Given the description of an element on the screen output the (x, y) to click on. 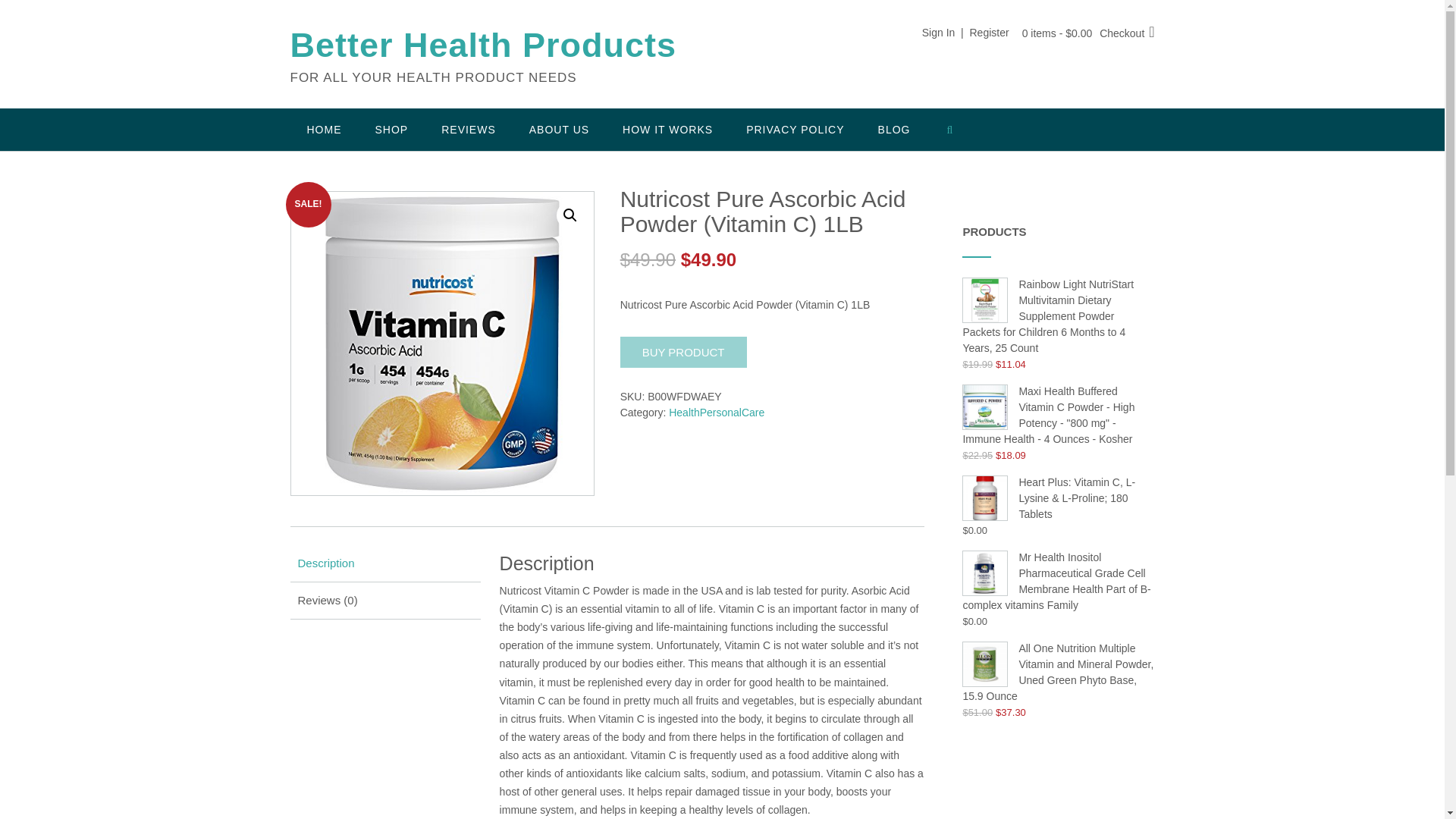
Description (384, 563)
HOME (323, 129)
BUY PRODUCT (683, 351)
REVIEWS (468, 129)
Better Health Products (483, 45)
SHOP (391, 129)
PRIVACY POLICY (794, 129)
HealthPersonalCare (716, 412)
HOW IT WORKS (667, 129)
1235441420-1 (442, 343)
Better Health Products (483, 45)
ABOUT US (558, 129)
BLOG (894, 129)
